Given the description of an element on the screen output the (x, y) to click on. 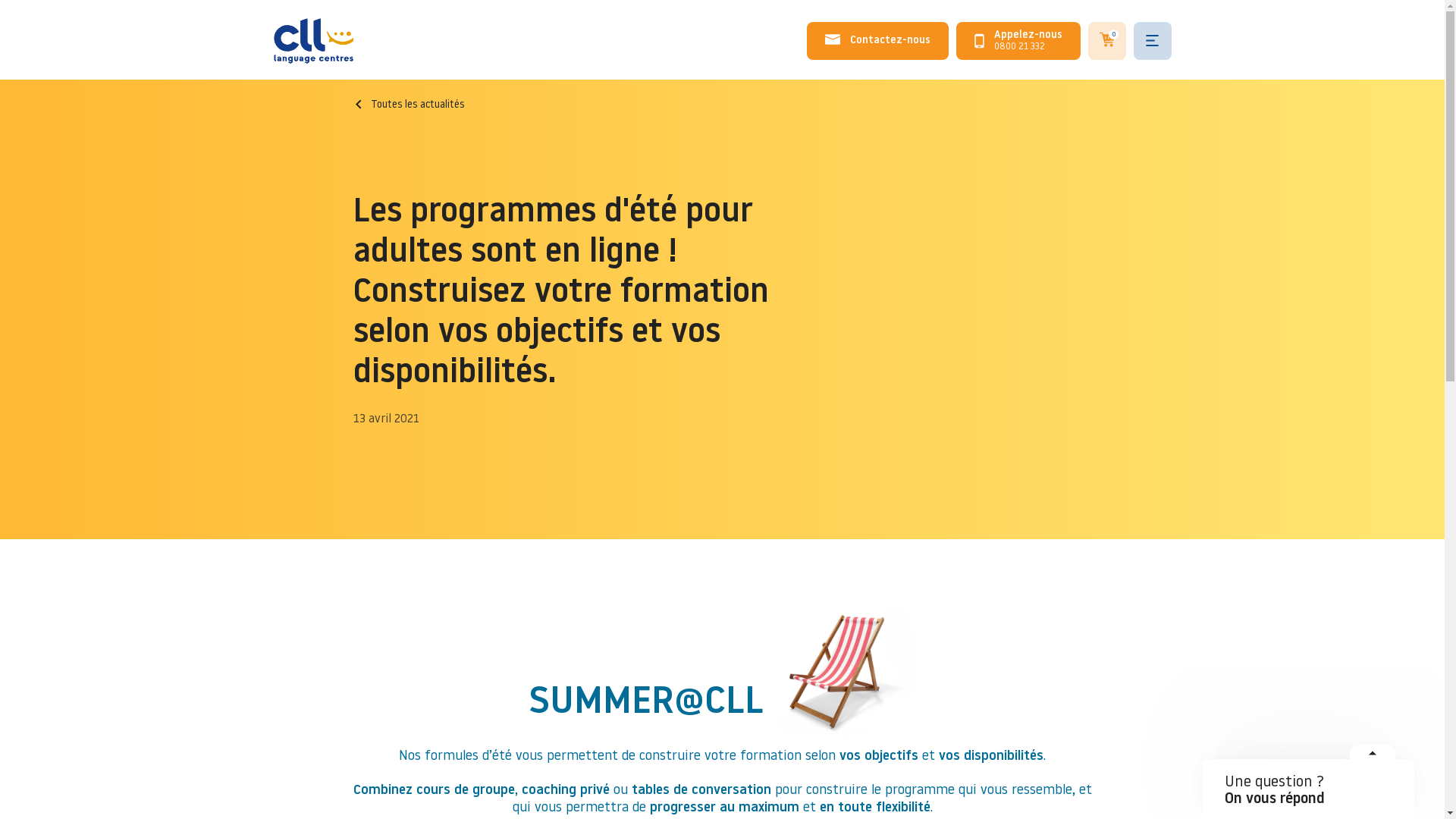
Appelez-nous
0800 21 332 Element type: text (1018, 40)
Ouvrir la modal Element type: text (1372, 758)
0 Element type: text (1107, 40)
Contactez-nous Element type: text (877, 40)
